Given the description of an element on the screen output the (x, y) to click on. 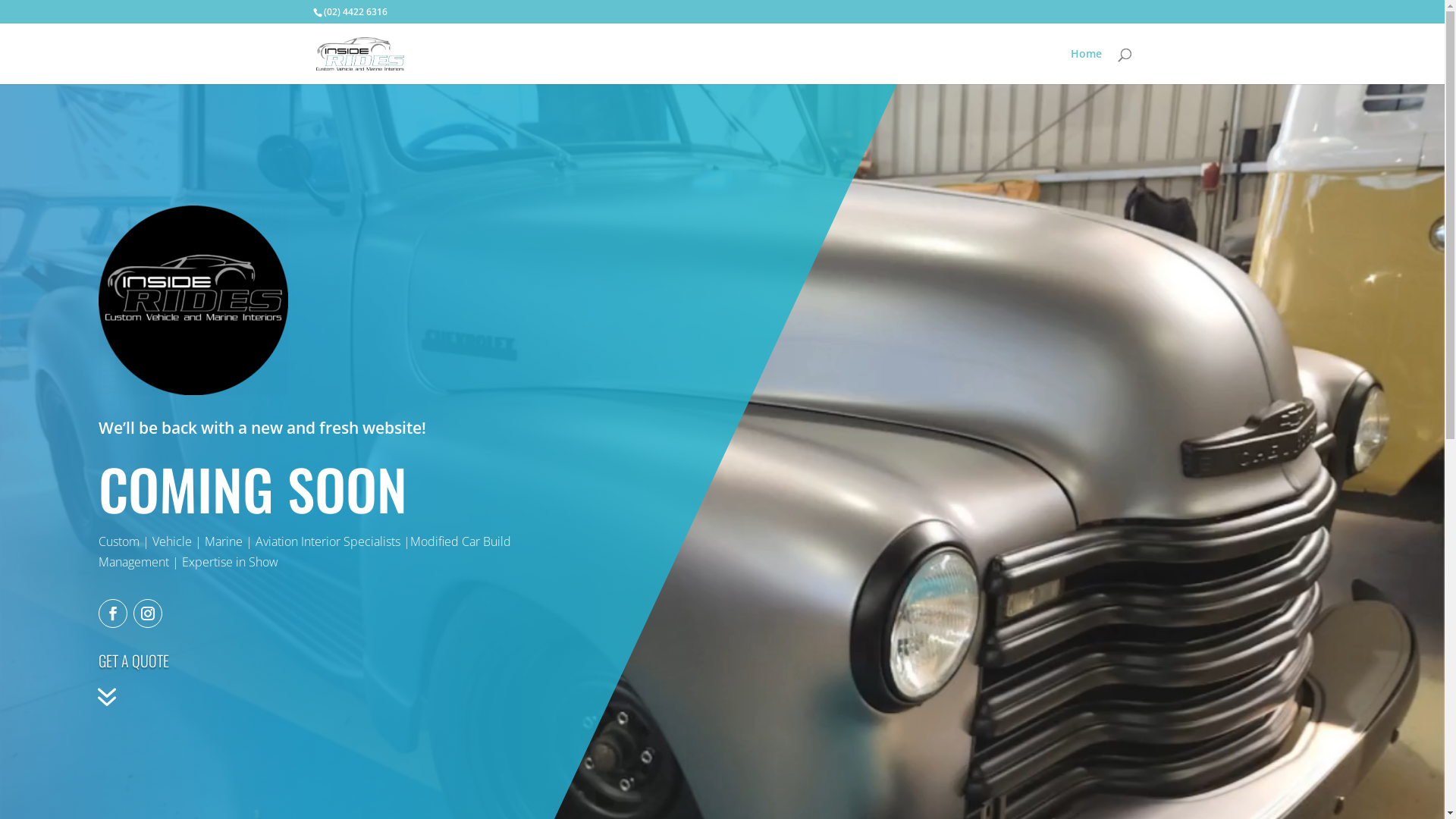
Home Element type: text (1085, 66)
Follow on Facebook Element type: hover (112, 613)
Follow on Instagram Element type: hover (147, 613)
cropped-Inside_Rides_favicon1_blk.png Element type: hover (193, 300)
